Given the description of an element on the screen output the (x, y) to click on. 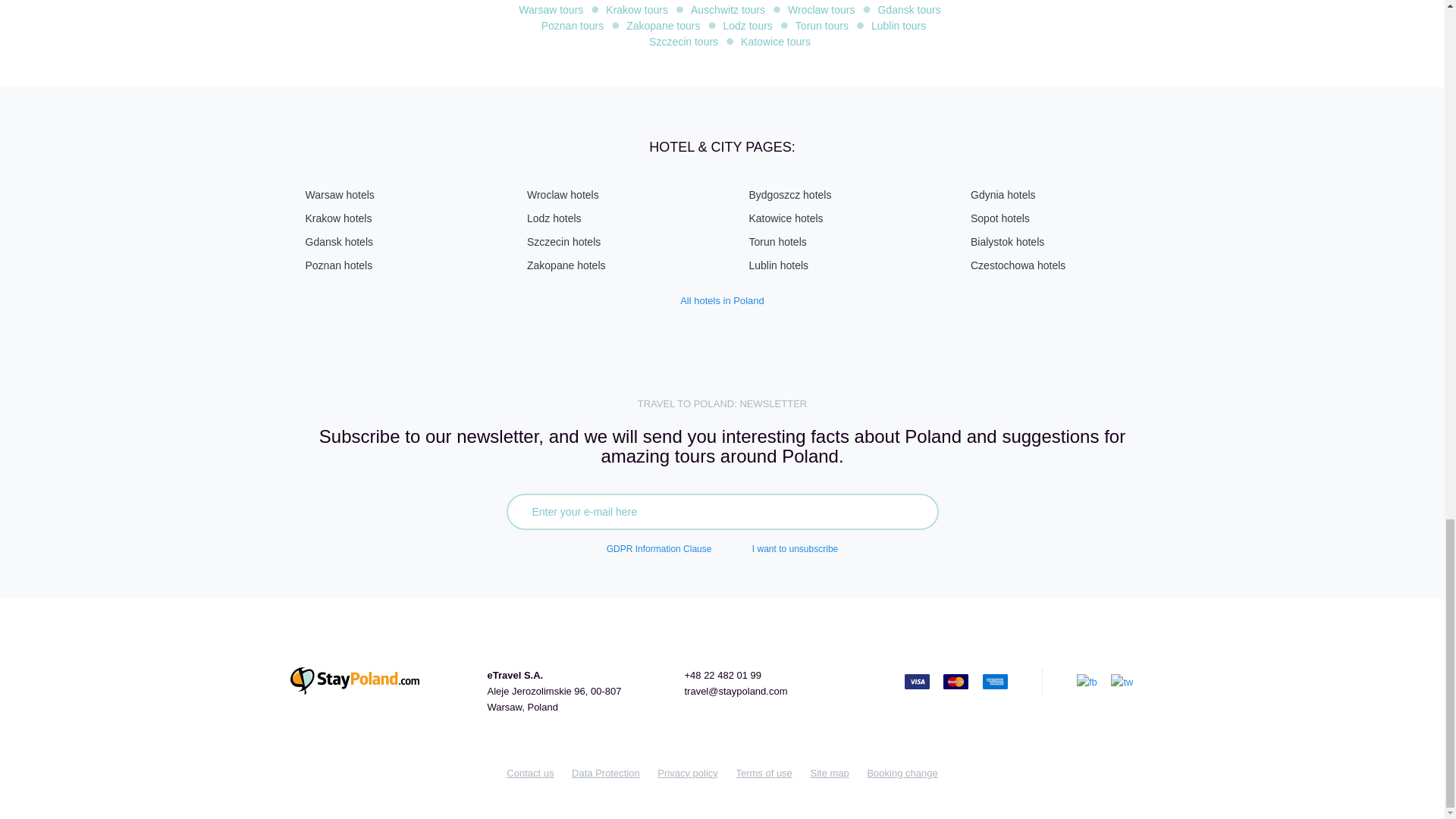
Szczecin tours (683, 41)
Lodz tours (746, 25)
Krakow tours (636, 9)
Torun tours (821, 25)
Warsaw tours (550, 9)
Lublin tours (898, 25)
Krakow hotels (337, 218)
Poznan hotels (338, 265)
Gdansk tours (908, 9)
Katowice tours (775, 41)
